Given the description of an element on the screen output the (x, y) to click on. 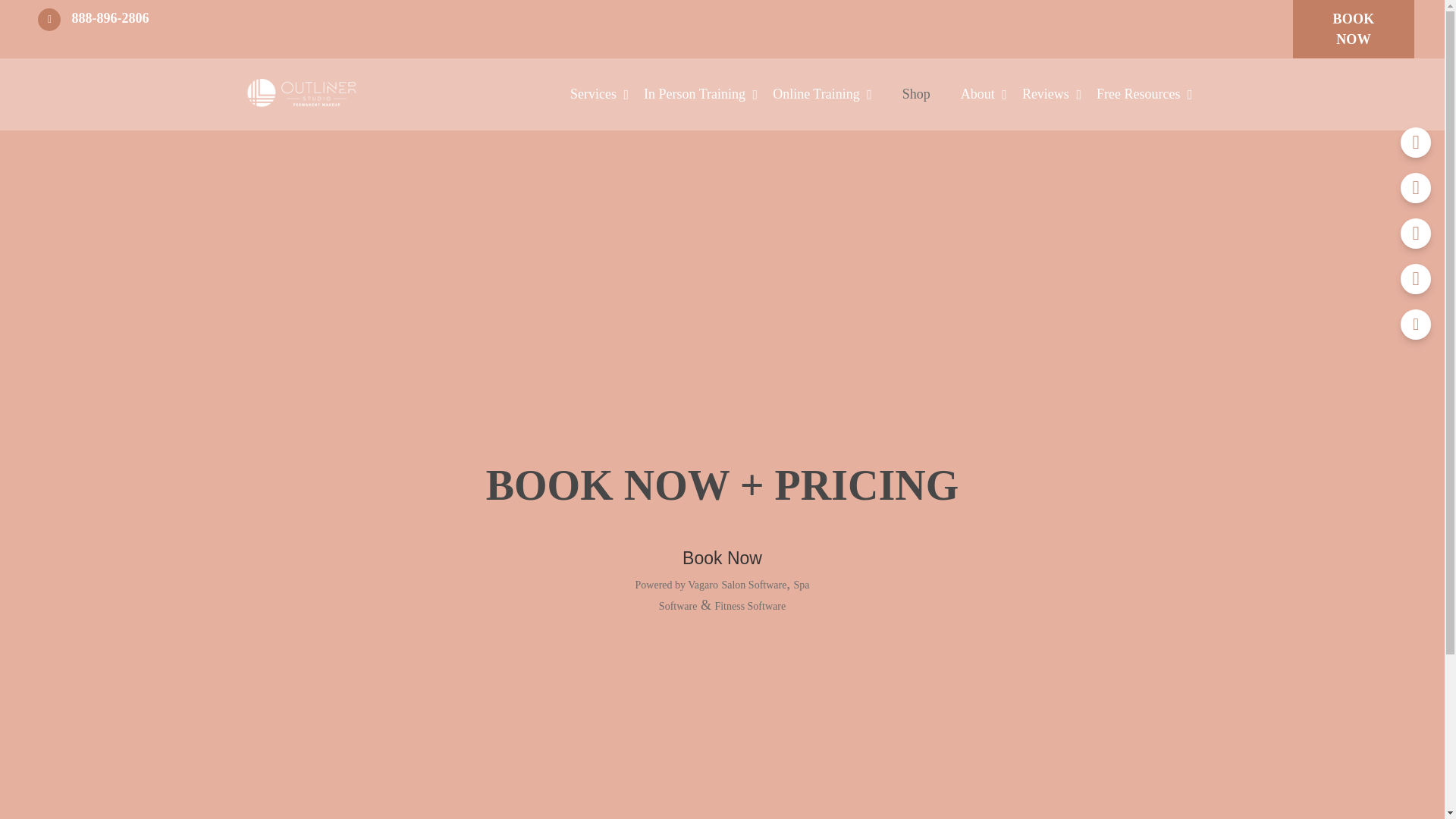
BOOK NOW (1352, 29)
Online Training (822, 94)
Free Resources (1144, 94)
Services (599, 94)
Reviews (1051, 94)
In Person Training (700, 94)
Shop (916, 94)
888-896-2806 (93, 29)
About (983, 94)
